Given the description of an element on the screen output the (x, y) to click on. 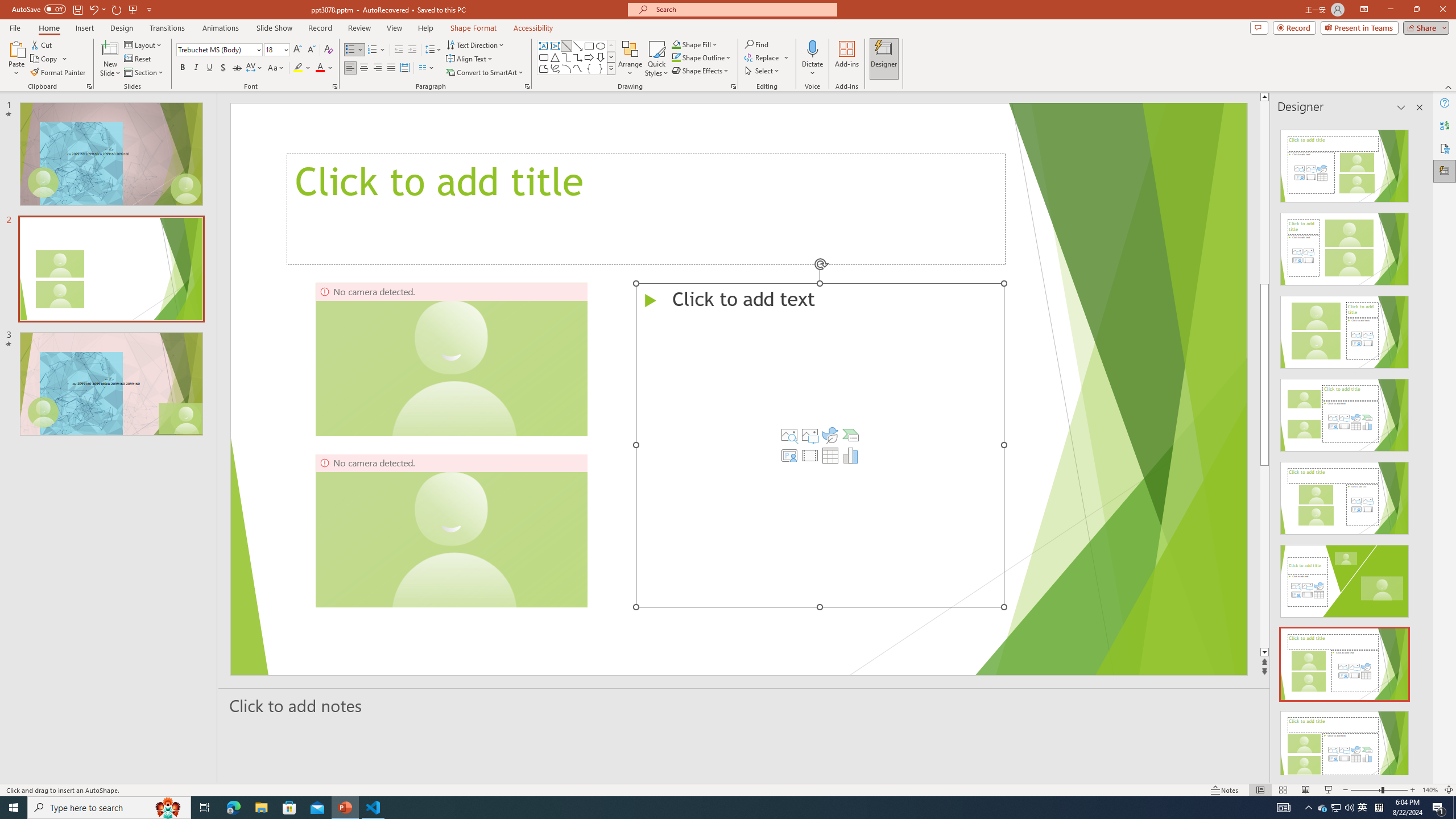
Bold (182, 67)
Page down (1264, 556)
Content Placeholder (819, 445)
Camera 5, No camera detected. (451, 530)
Decrease Font Size (310, 49)
Italic (195, 67)
Format Object... (733, 85)
Increase Font Size (297, 49)
Arc (566, 68)
